Given the description of an element on the screen output the (x, y) to click on. 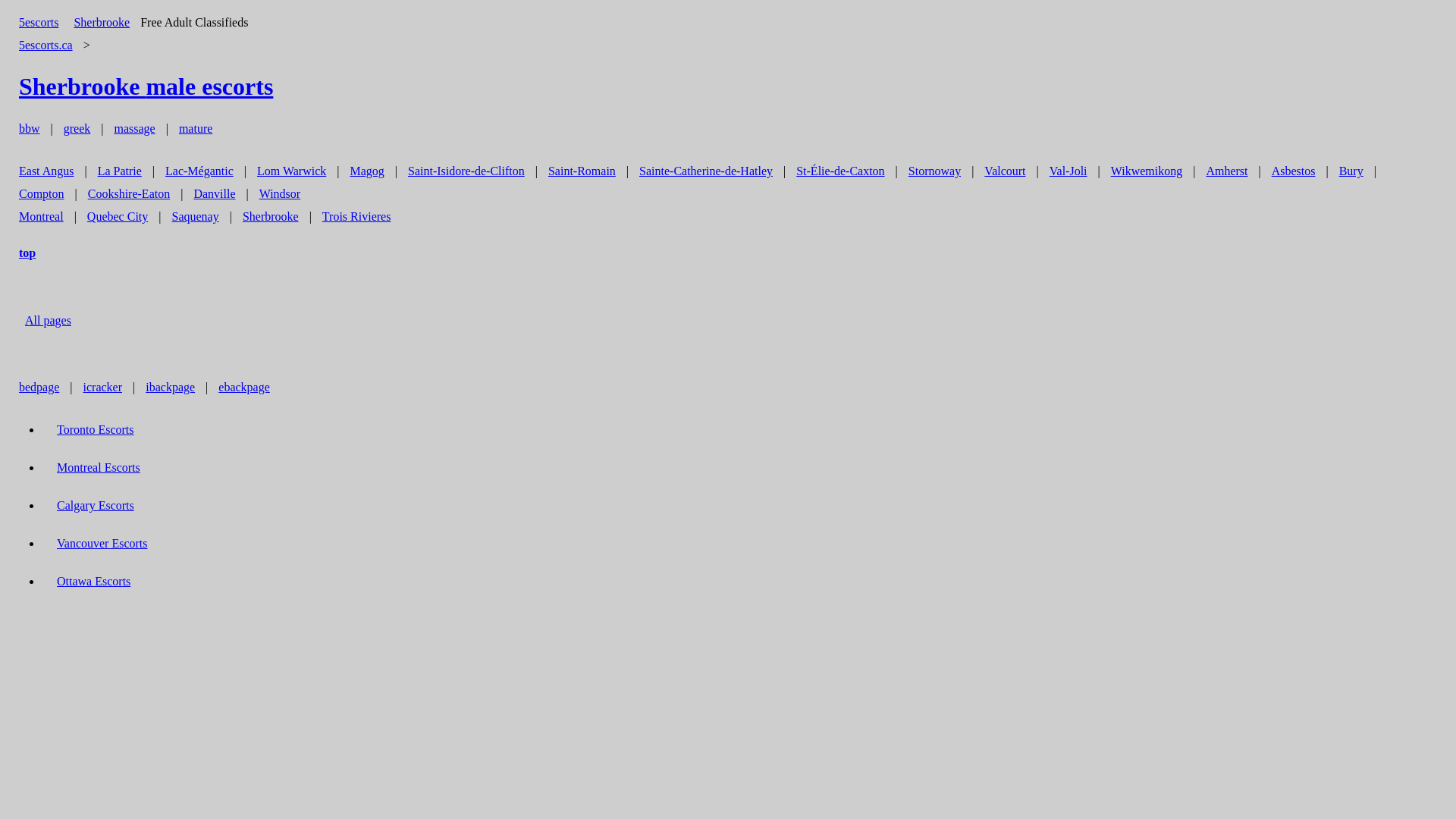
Ottawa Escorts Element type: text (93, 581)
Saint-Romain Element type: text (581, 170)
Asbestos Element type: text (1293, 170)
La Patrie Element type: text (119, 170)
Compton Element type: text (41, 193)
5escorts.ca Element type: text (45, 45)
Toronto Escorts Element type: text (95, 429)
Val-Joli Element type: text (1068, 170)
Sherbrooke Element type: text (101, 22)
Amherst Element type: text (1226, 170)
bbw Element type: text (29, 128)
Lom Warwick Element type: text (291, 170)
East Angus Element type: text (46, 170)
5escorts Element type: text (38, 22)
Trois Rivieres Element type: text (356, 216)
Saint-Isidore-de-Clifton Element type: text (466, 170)
Quebec City Element type: text (117, 216)
mature Element type: text (195, 128)
Montreal Element type: text (41, 216)
Saquenay Element type: text (194, 216)
All pages Element type: text (47, 320)
Calgary Escorts Element type: text (95, 505)
Sherbrooke Element type: text (270, 216)
greek Element type: text (77, 128)
ebackpage Element type: text (243, 387)
Stornoway Element type: text (934, 170)
Windsor Element type: text (279, 193)
Sainte-Catherine-de-Hatley Element type: text (705, 170)
Vancouver Escorts Element type: text (102, 543)
Cookshire-Eaton Element type: text (128, 193)
ibackpage Element type: text (170, 387)
Magog Element type: text (366, 170)
Sherbrooke male escorts Element type: text (145, 86)
massage Element type: text (134, 128)
Danville Element type: text (213, 193)
bedpage Element type: text (38, 387)
top Element type: text (27, 252)
Montreal Escorts Element type: text (98, 467)
Wikwemikong Element type: text (1146, 170)
icracker Element type: text (102, 387)
Valcourt Element type: text (1004, 170)
Bury Element type: text (1351, 170)
